Given the description of an element on the screen output the (x, y) to click on. 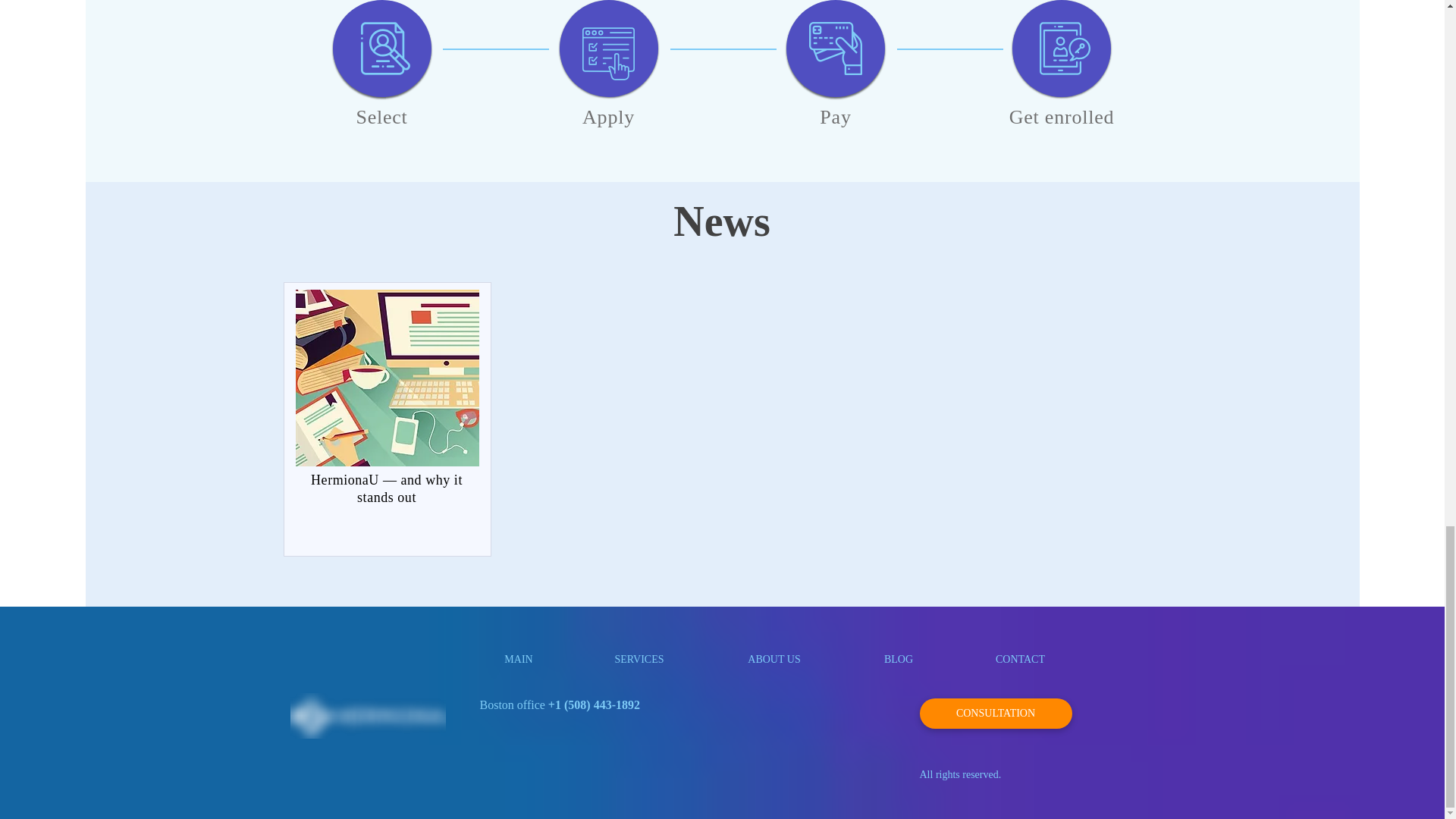
SERVICES (639, 659)
MAIN (518, 659)
ABOUT US (773, 659)
